Given the description of an element on the screen output the (x, y) to click on. 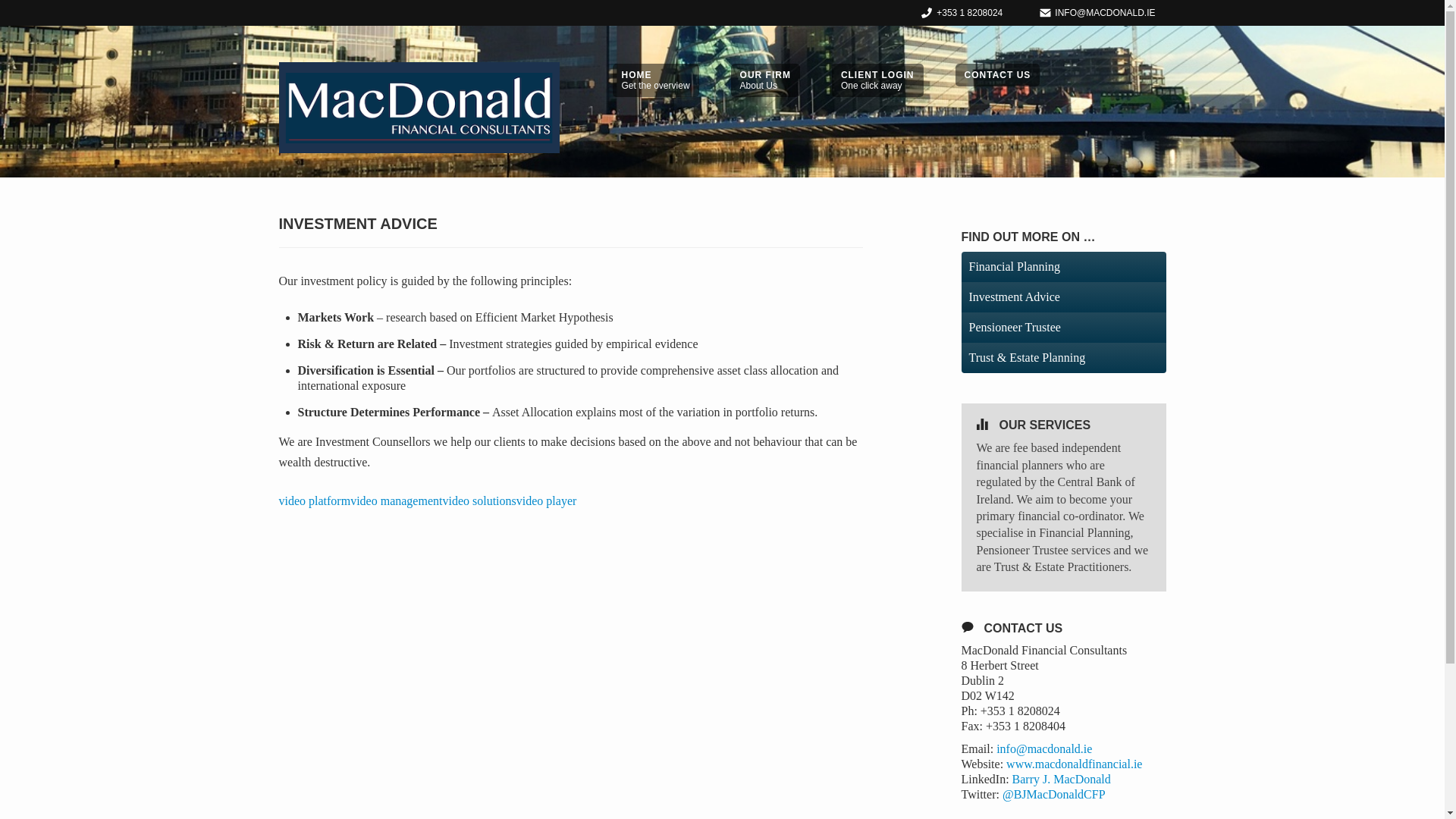
Investment Advice (1063, 296)
video solutions (478, 500)
CONTACT US (998, 74)
Get the overview (655, 80)
video management (396, 500)
Pensioneer Trustee (877, 80)
www.macdonaldfinancial.ie (1063, 327)
video player (1073, 763)
About Us (546, 500)
Financial Planning (764, 80)
One click away (764, 80)
Barry J. MacDonald (1063, 266)
